Given the description of an element on the screen output the (x, y) to click on. 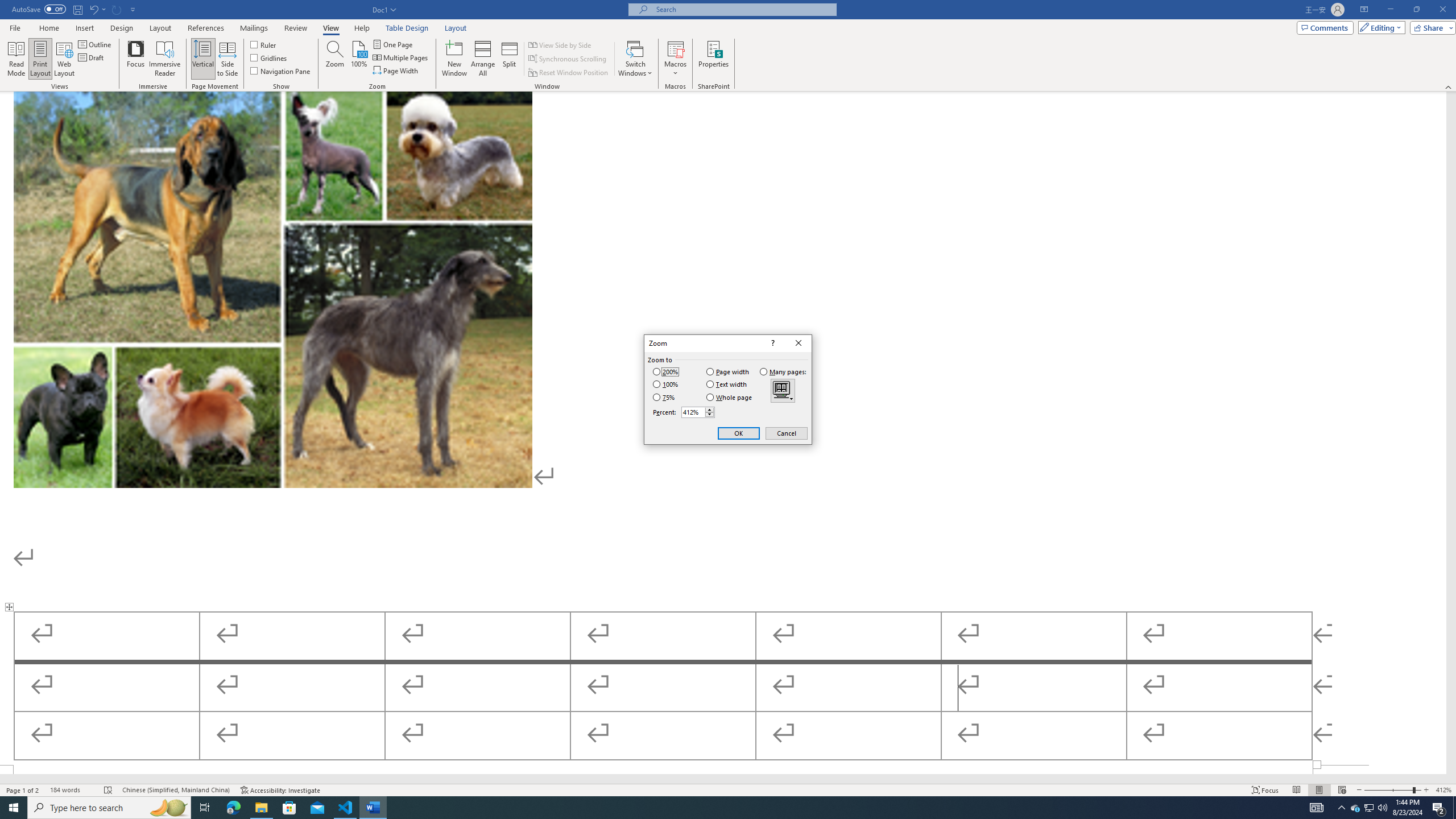
Ruler (263, 44)
Switch Windows (635, 58)
Page width (728, 371)
100% (358, 58)
Whole page (730, 396)
Cancel (786, 433)
